Given the description of an element on the screen output the (x, y) to click on. 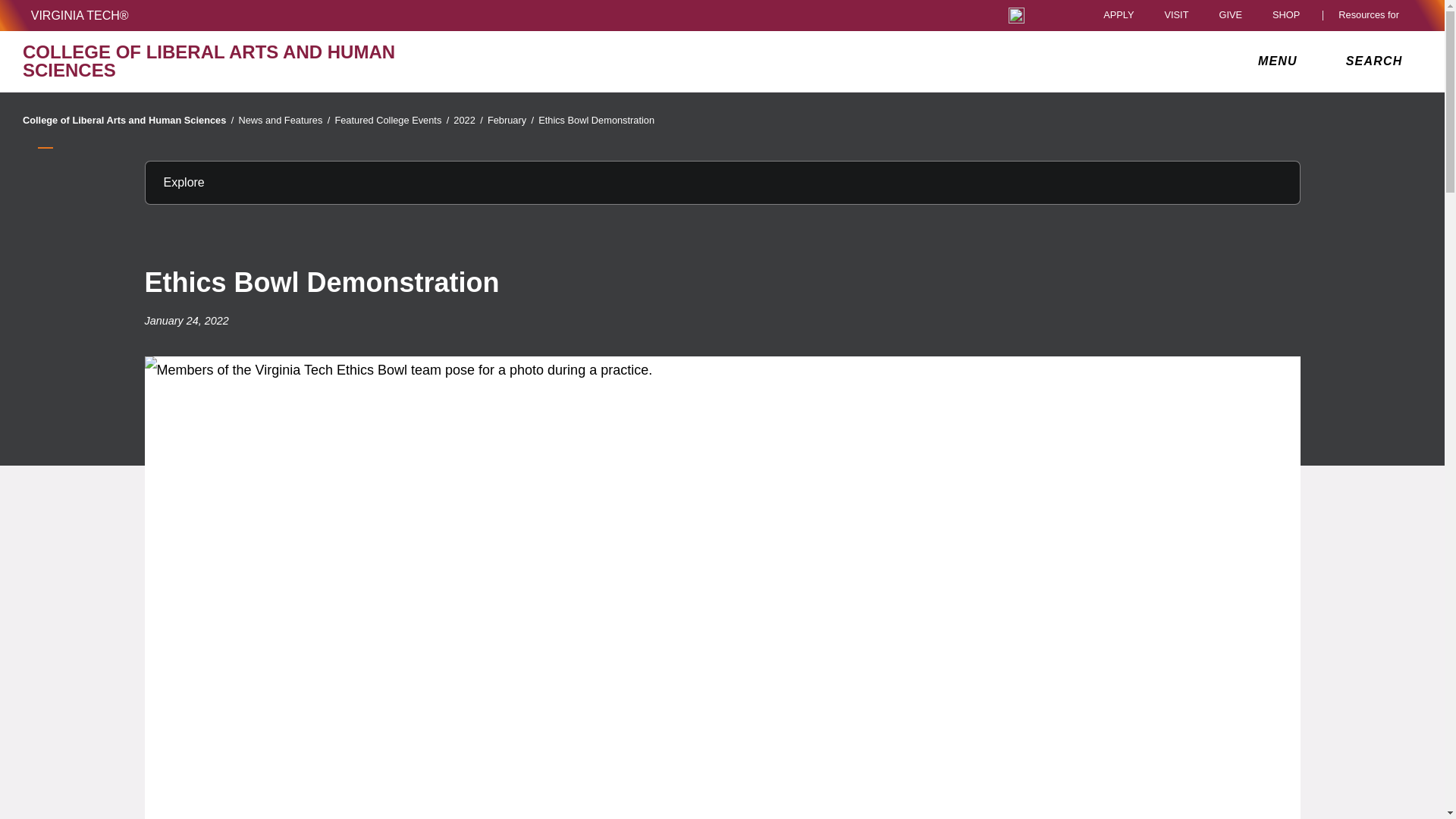
GIVE (1229, 15)
SHOP (1289, 15)
VISIT (1175, 15)
APPLY (1118, 15)
Resources for (1372, 15)
MENU (1280, 61)
Universal Access Toggle (1017, 15)
COLLEGE OF LIBERAL ARTS AND HUMAN SCIENCES (250, 60)
